Given the description of an element on the screen output the (x, y) to click on. 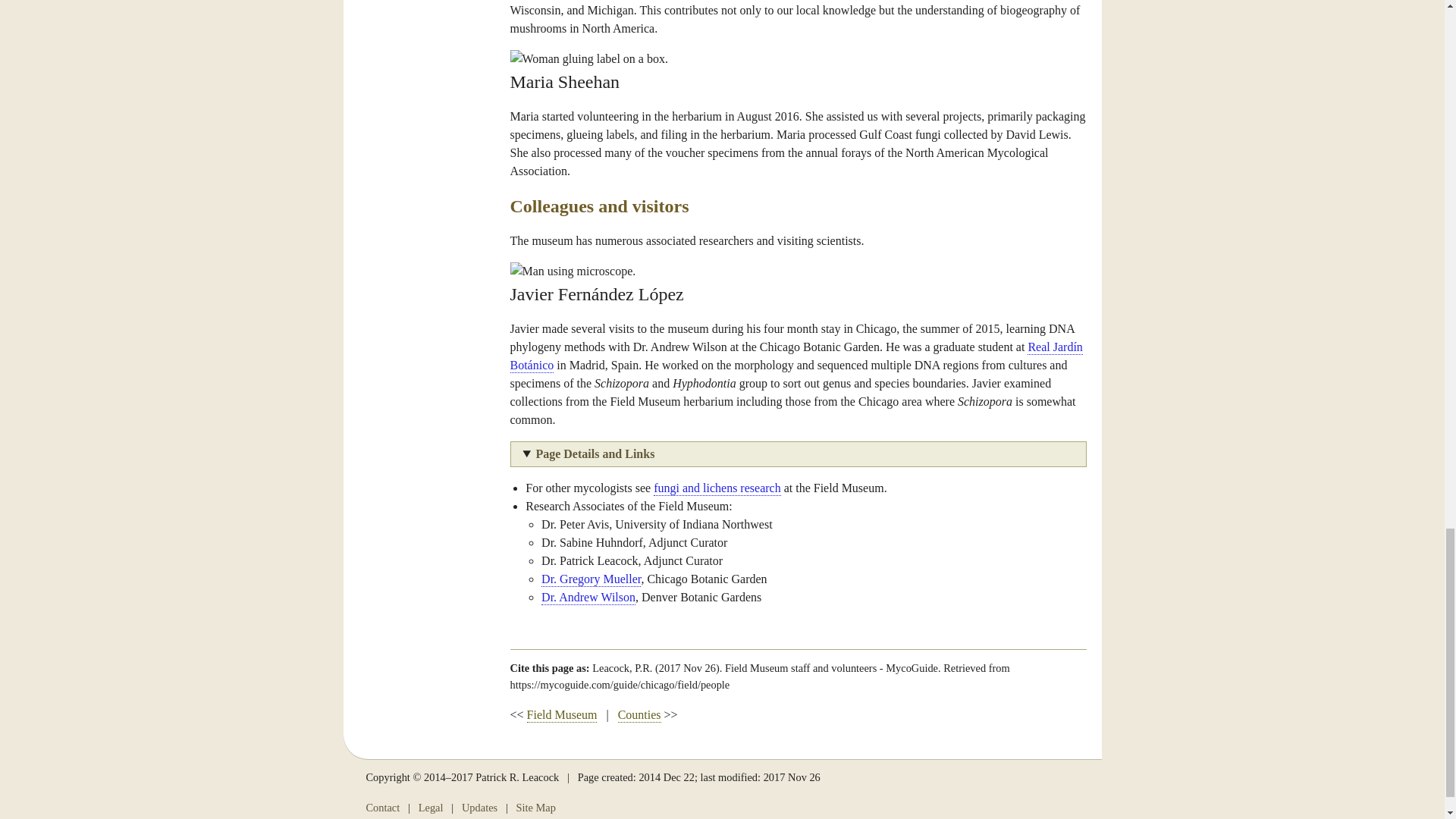
Site Map (536, 807)
Legal (431, 807)
Field Museum (561, 715)
Updates (479, 807)
Contact (381, 807)
Dr. Gregory Mueller (590, 579)
Counties (639, 715)
Dr. Andrew Wilson (587, 597)
fungi and lichens research (716, 488)
Maria Sheehan (587, 58)
